Given the description of an element on the screen output the (x, y) to click on. 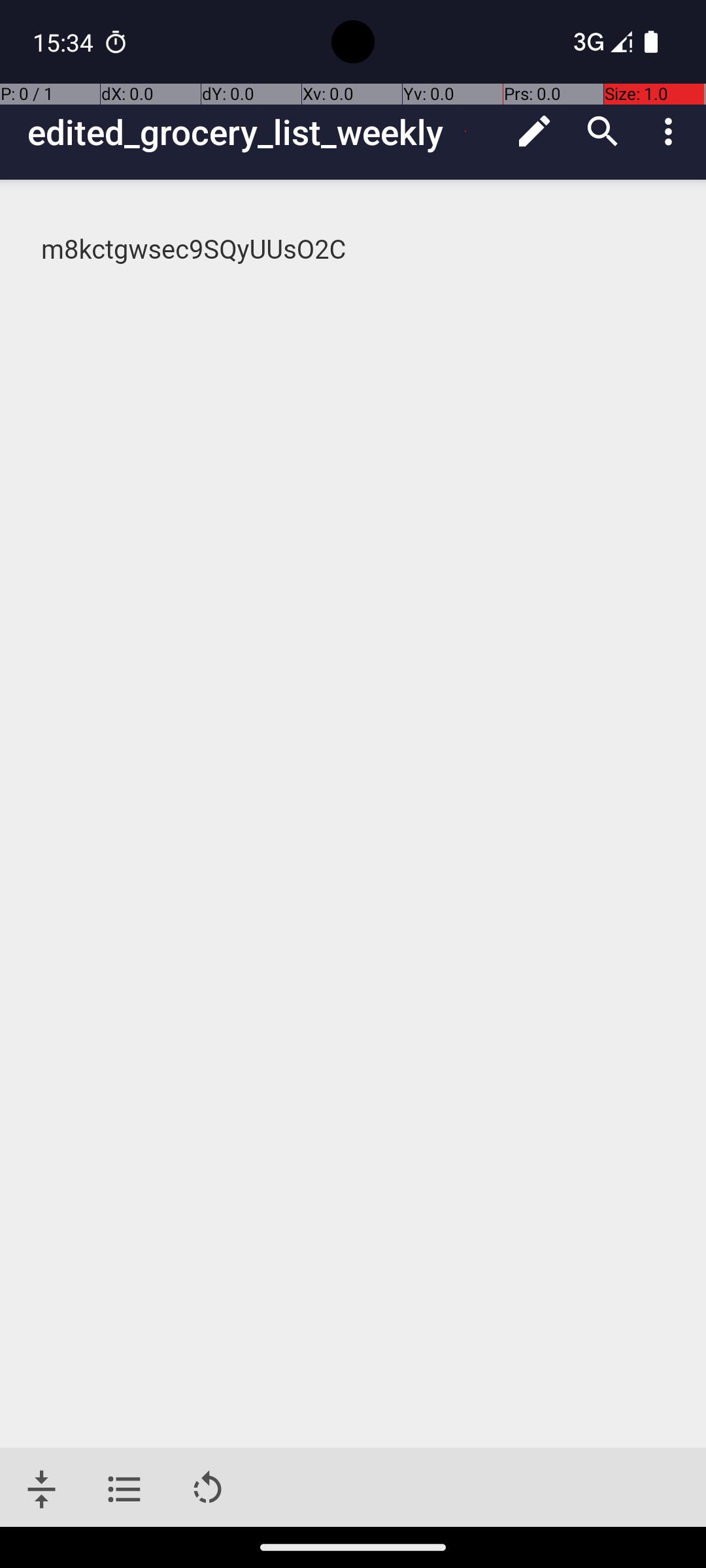
edited_grocery_list_weekly Element type: android.widget.TextView (263, 131)
m8kctgwsec9SQyUUsO2C Element type: android.widget.TextView (354, 249)
